Given the description of an element on the screen output the (x, y) to click on. 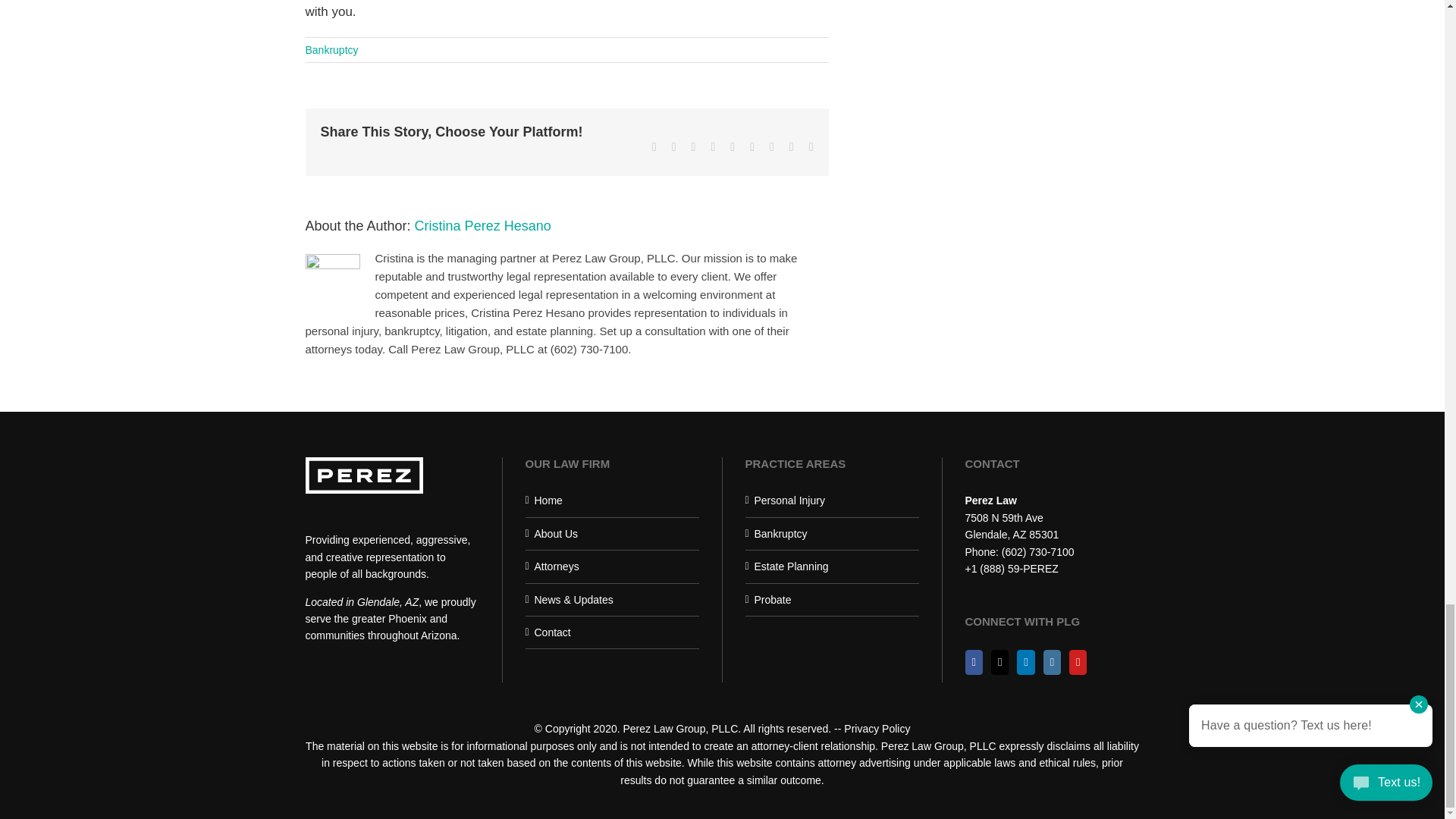
Posts by Cristina Perez Hesano (482, 225)
